Given the description of an element on the screen output the (x, y) to click on. 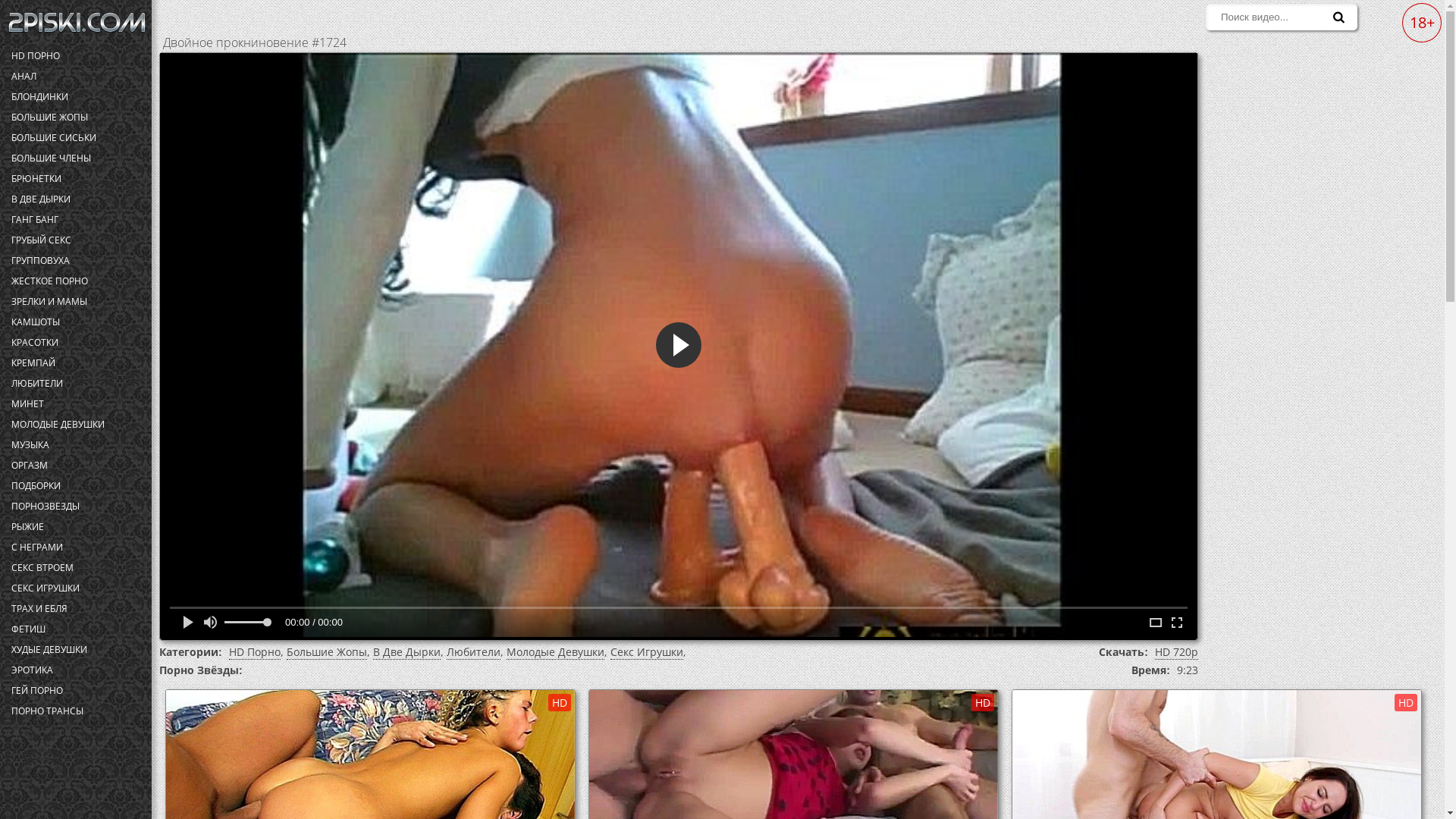
HD 720p Element type: text (1176, 651)
